Given the description of an element on the screen output the (x, y) to click on. 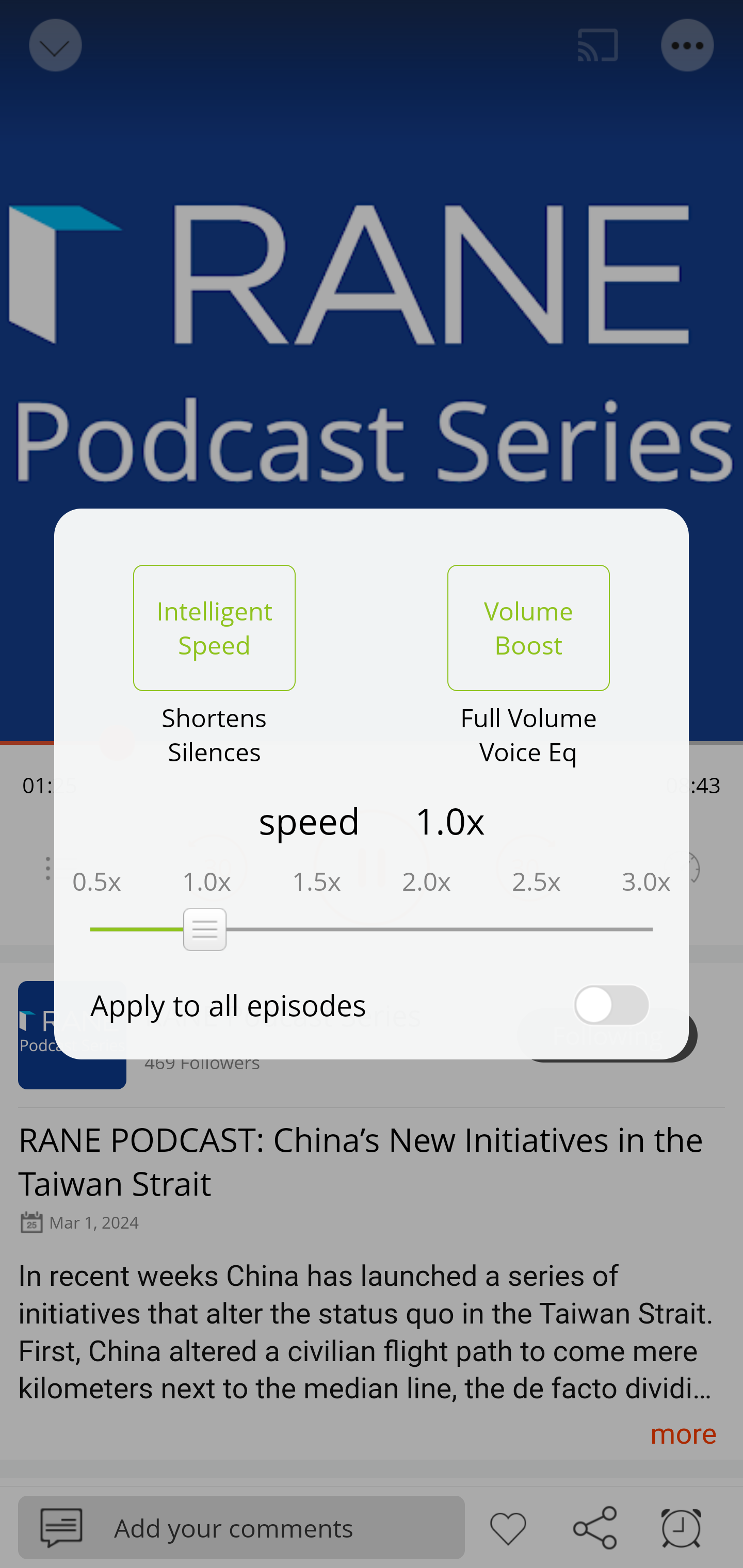
Intelligent
Speed (213, 627)
Volume
Boost (528, 627)
